Given the description of an element on the screen output the (x, y) to click on. 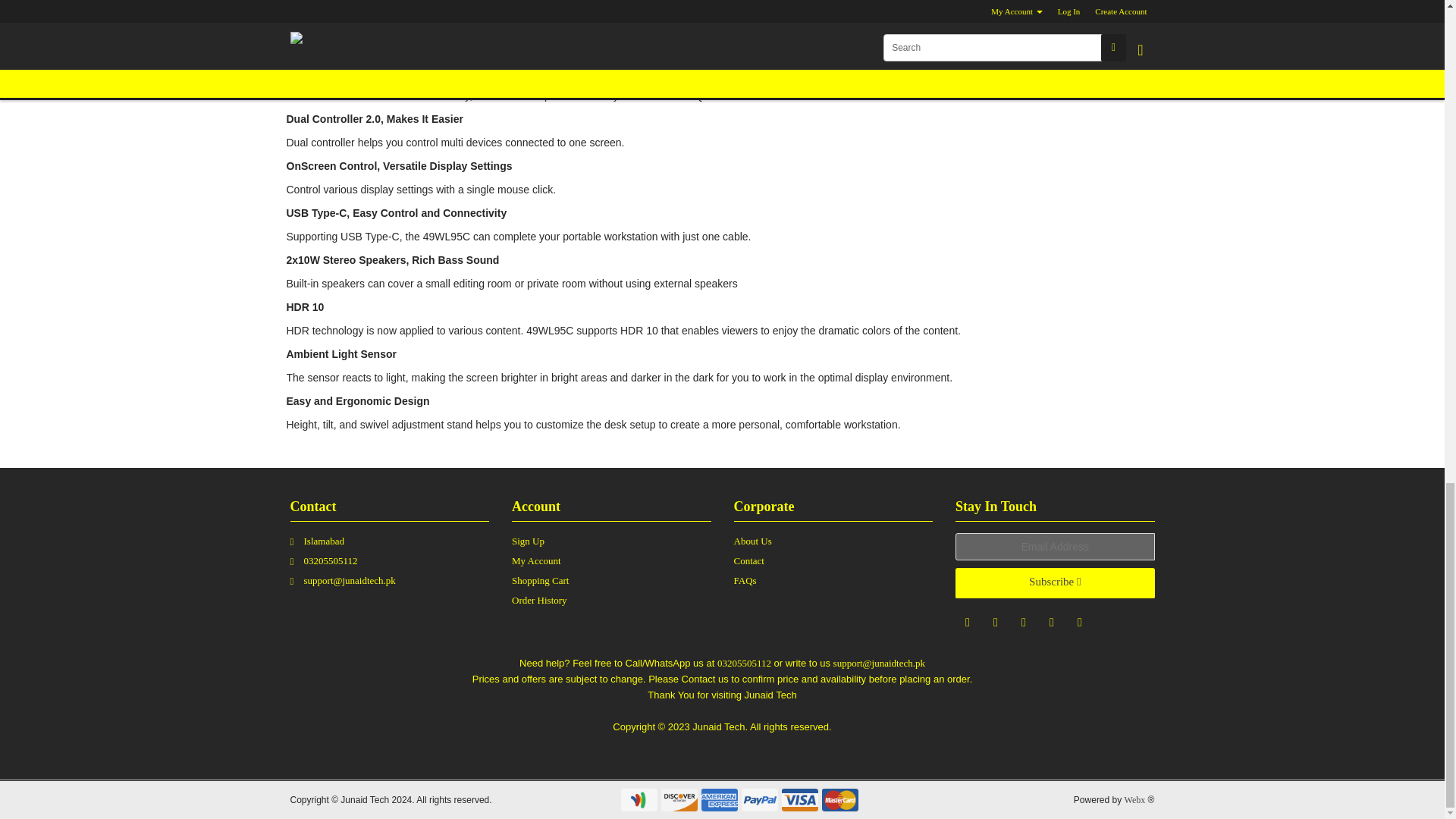
WhatsApp (995, 621)
LinkedIn (1079, 621)
Twitter (1051, 621)
Instagram (1023, 621)
03205505112 (395, 562)
Facebook (967, 621)
Islamabad (395, 542)
